Given the description of an element on the screen output the (x, y) to click on. 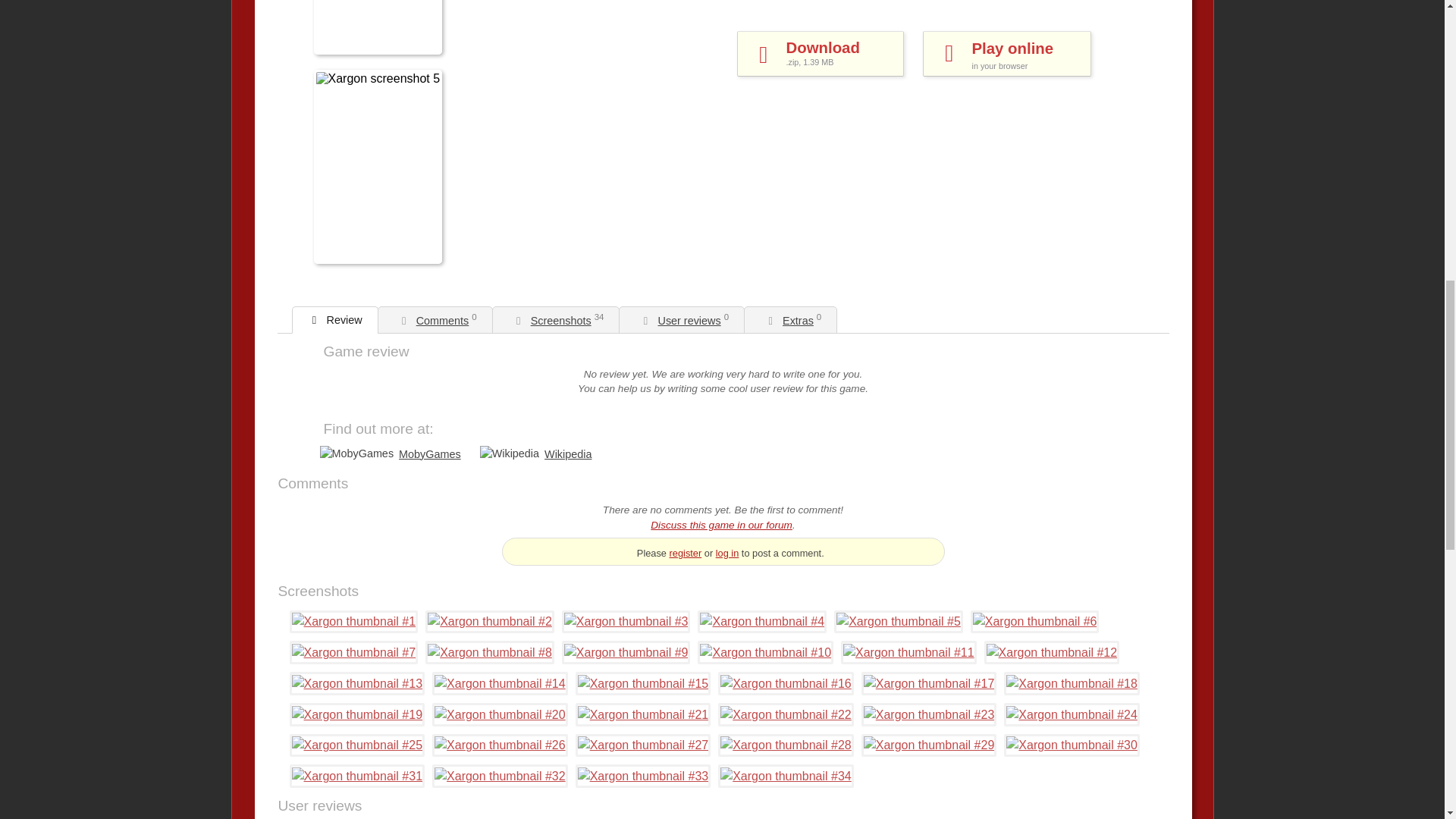
Xargon - screenshot 2 (489, 621)
Xargon - screenshot 6 (1034, 621)
Xargon - screenshot 7 (820, 53)
Xargon - screenshot 3 (352, 652)
Xargon - screenshot 9 (1005, 53)
Xargon - screenshot 4 (626, 621)
Xargon - screenshot 5 (626, 652)
Xargon - screenshot 8 (762, 621)
